Given the description of an element on the screen output the (x, y) to click on. 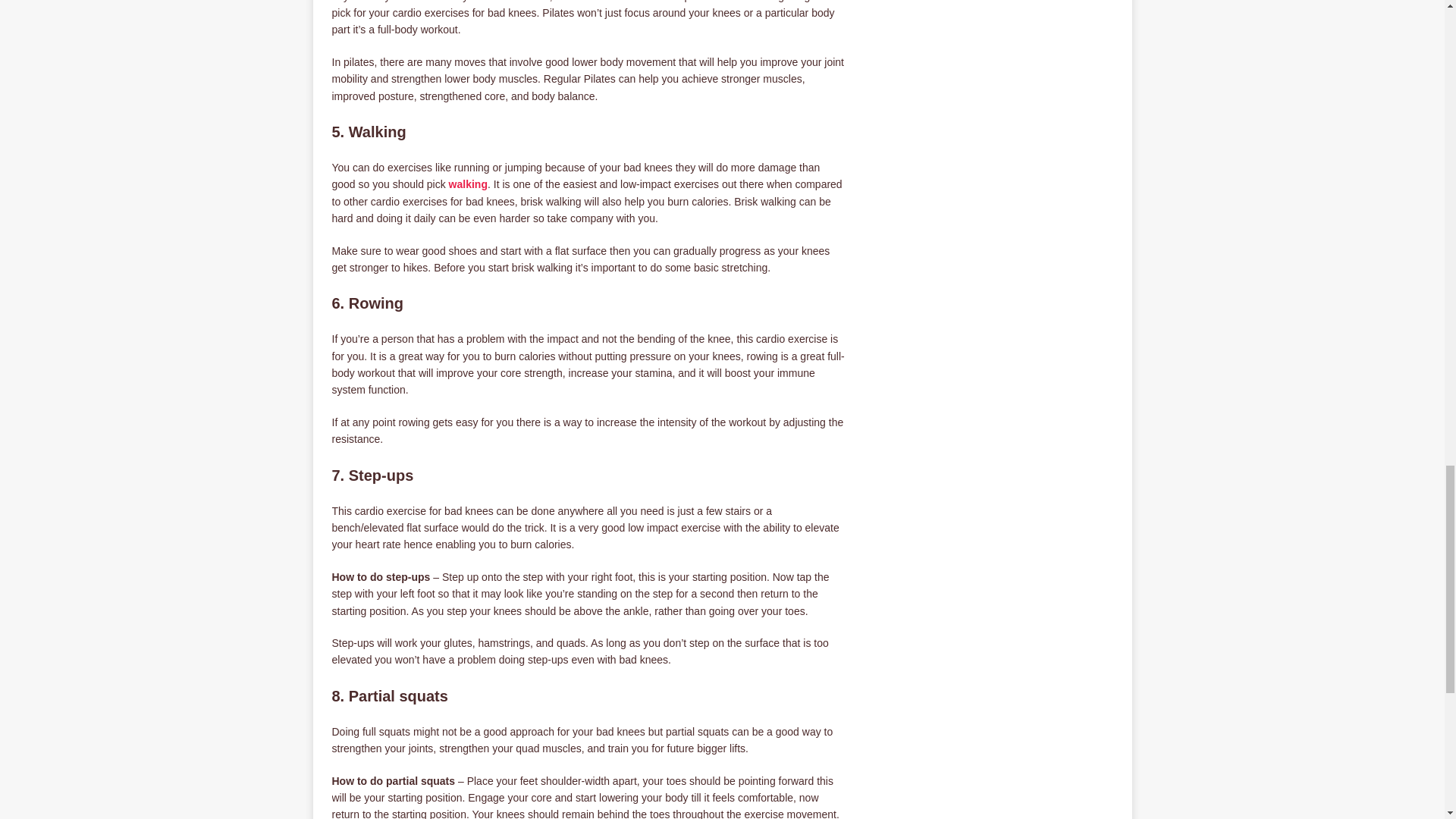
walking (467, 184)
